Given the description of an element on the screen output the (x, y) to click on. 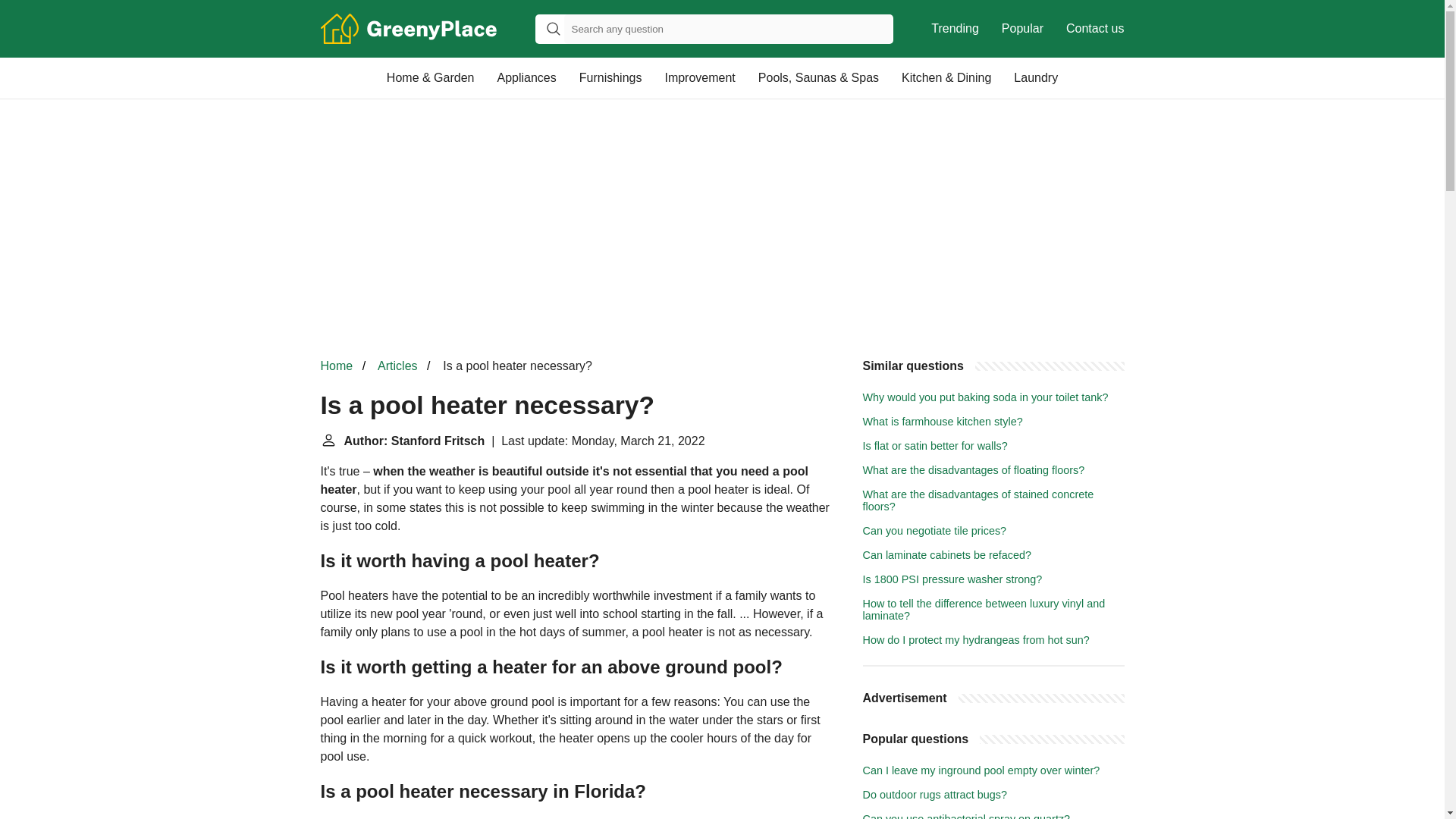
What are the disadvantages of stained concrete floors? (993, 500)
Furnishings (610, 77)
Do outdoor rugs attract bugs? (935, 794)
Is flat or satin better for walls? (935, 445)
Can I leave my inground pool empty over winter? (981, 770)
How do I protect my hydrangeas from hot sun? (976, 639)
Improvement (698, 77)
Can laminate cabinets be refaced? (946, 554)
Appliances (525, 77)
Can you use antibacterial spray on quartz? (966, 816)
Contact us (1094, 28)
What is farmhouse kitchen style? (943, 421)
Articles (396, 365)
What are the disadvantages of floating floors? (973, 469)
